Given the description of an element on the screen output the (x, y) to click on. 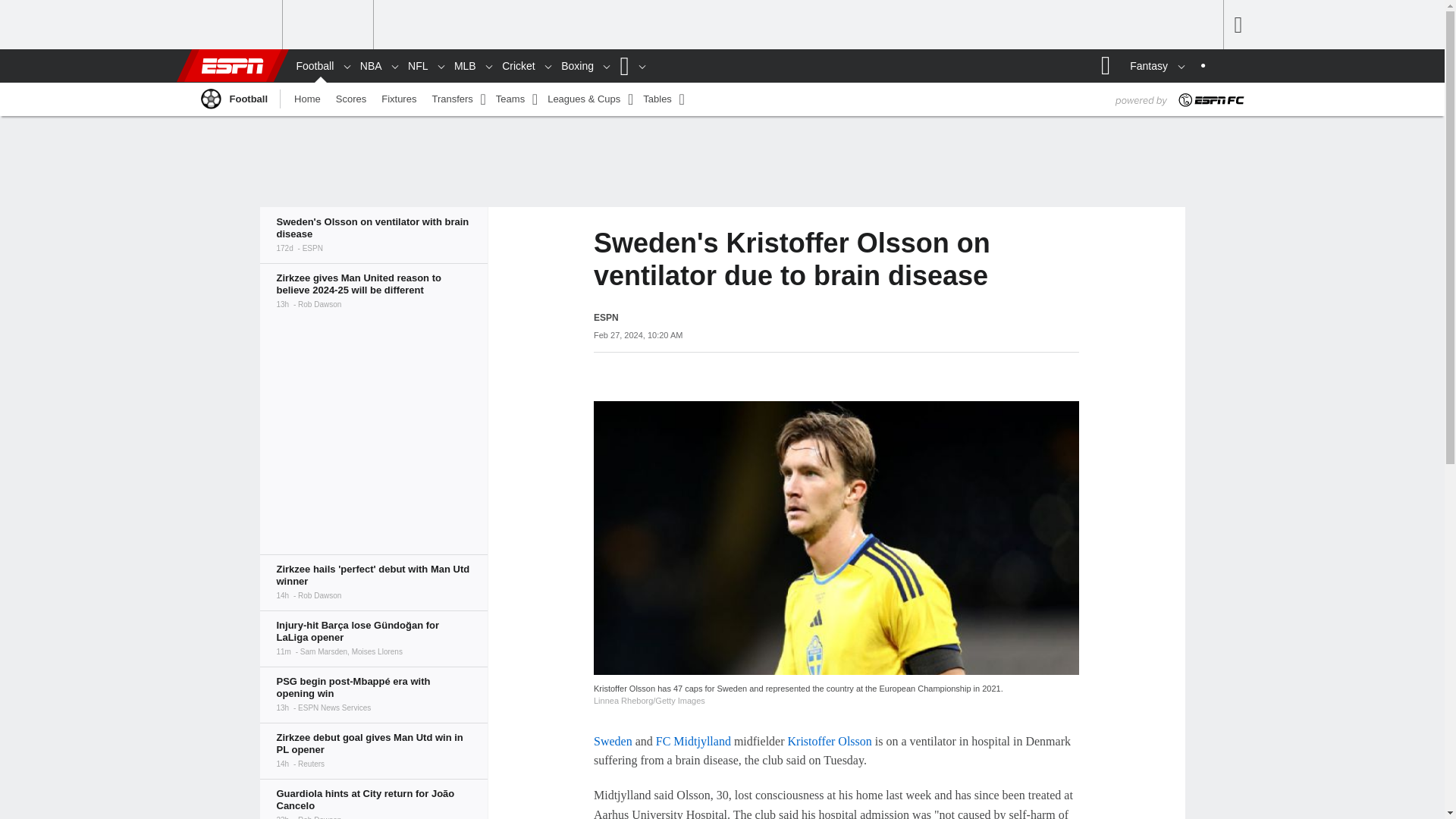
ESPN (231, 65)
Football (209, 97)
Football (310, 65)
